Given the description of an element on the screen output the (x, y) to click on. 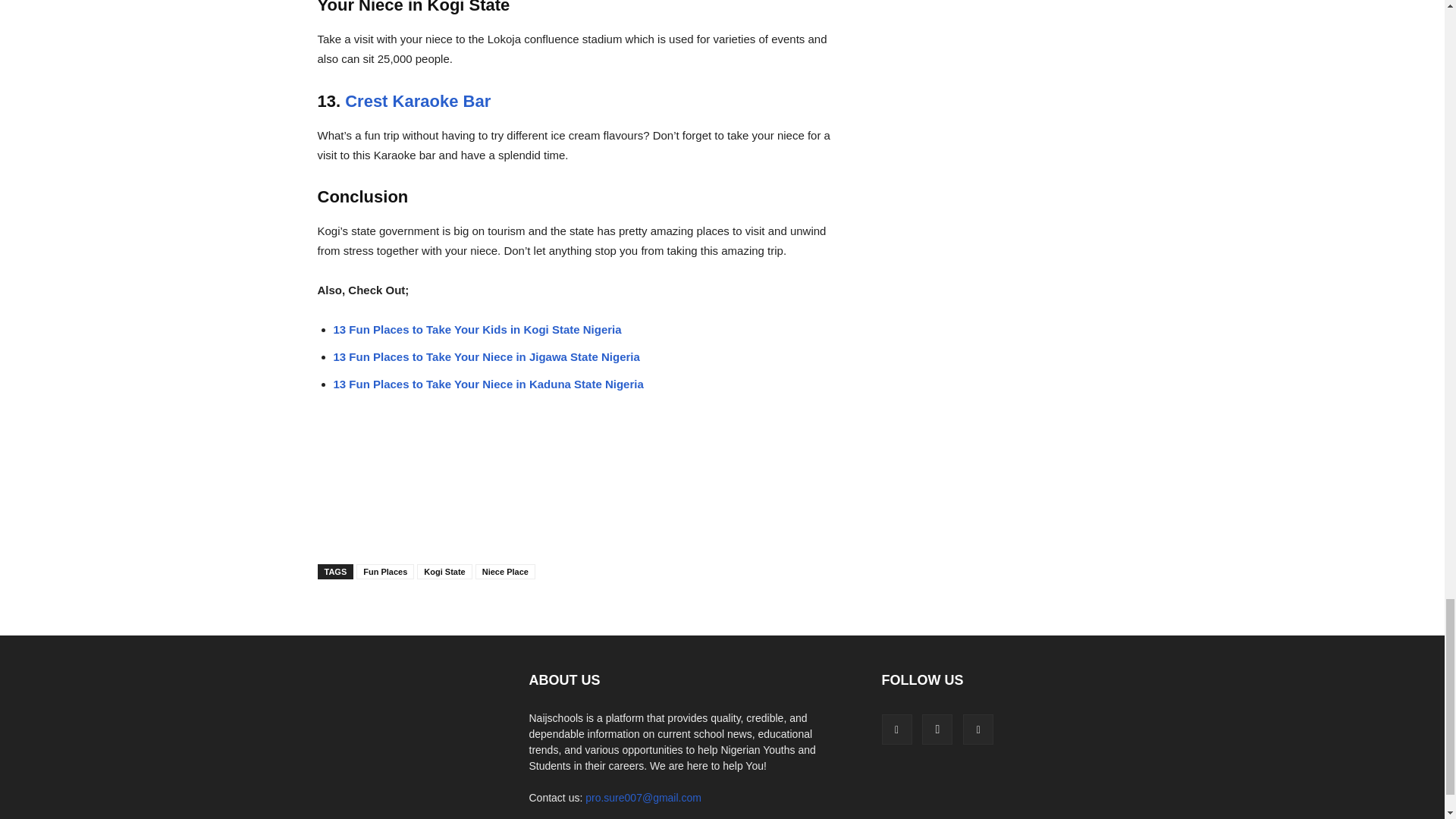
Instagram (936, 729)
13 Fun Places to Take Your Niece in Kaduna State Nigeria (488, 383)
13 Fun Places to Take Your Niece in Jigawa State Nigeria (486, 356)
13 Fun Places to Take Your Kids in Kogi State Nigeria (477, 328)
Twitter (977, 729)
Facebook (895, 729)
